Given the description of an element on the screen output the (x, y) to click on. 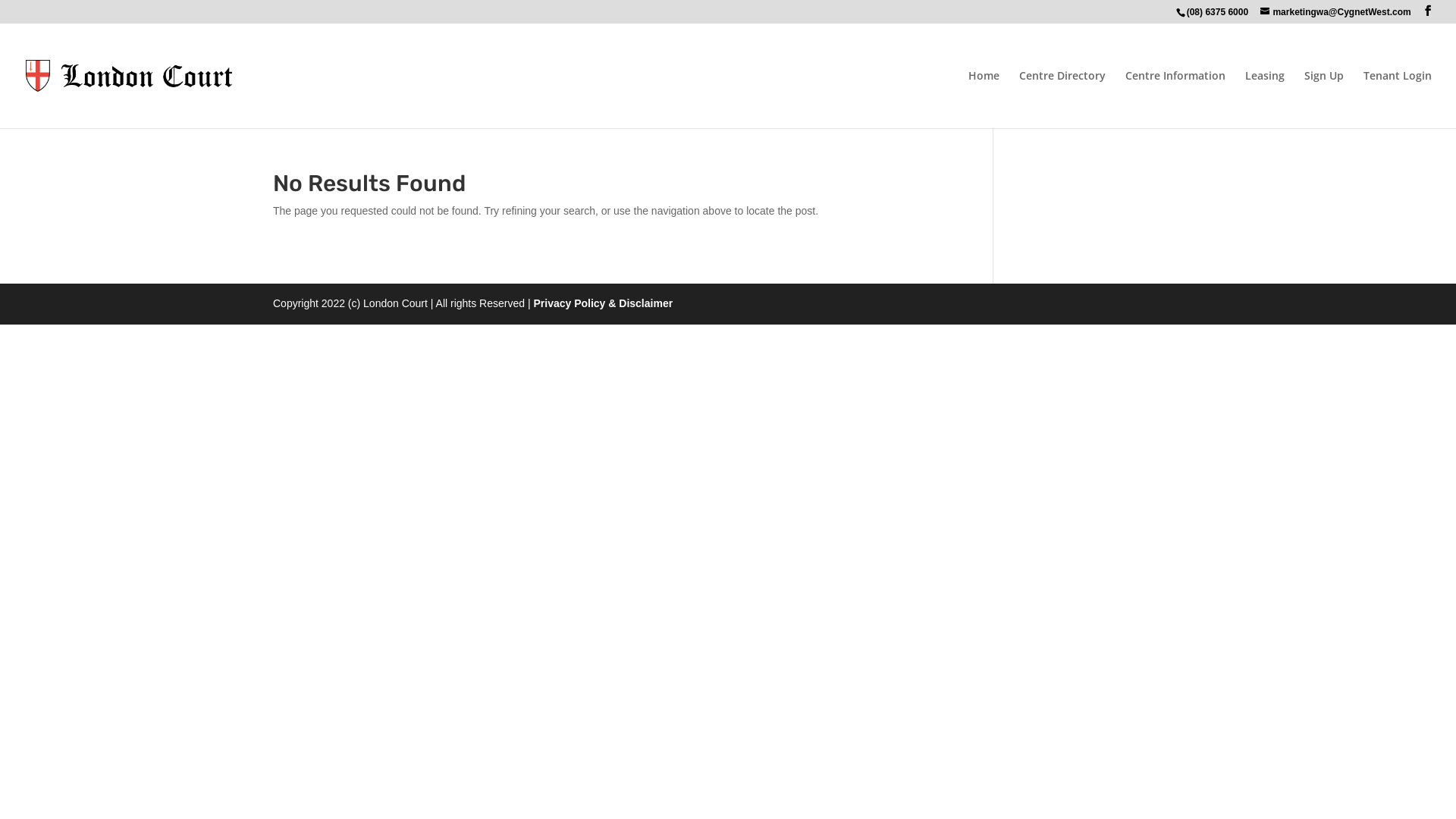
Home Element type: text (983, 99)
Sign Up Element type: text (1323, 99)
Centre Information Element type: text (1175, 99)
Privacy Policy & Disclaimer Element type: text (602, 303)
Centre Directory Element type: text (1062, 99)
Tenant Login Element type: text (1397, 99)
marketingwa@CygnetWest.com Element type: text (1335, 11)
Leasing Element type: text (1264, 99)
